Given the description of an element on the screen output the (x, y) to click on. 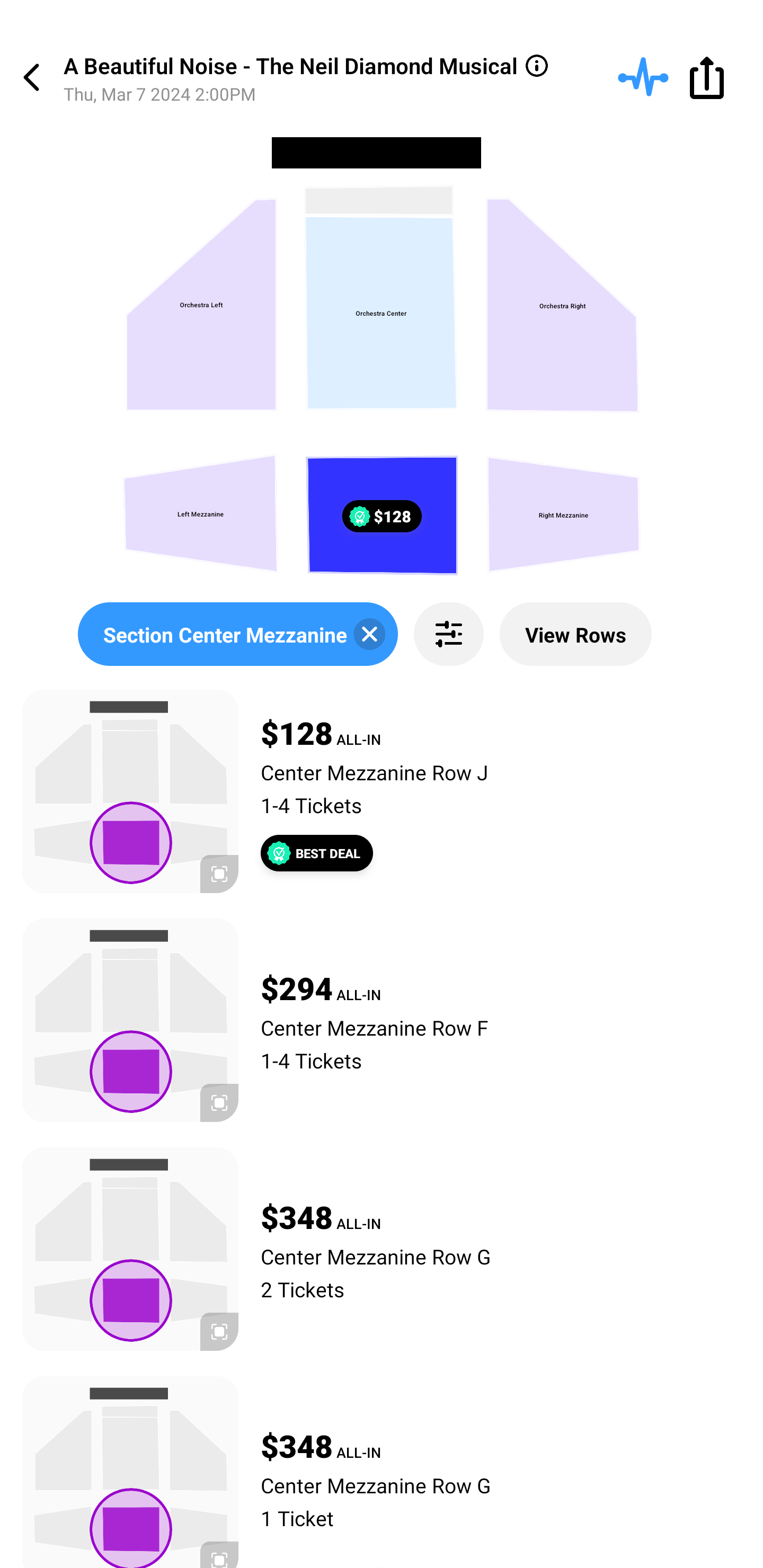
Section Center Mezzanine (237, 634)
View Rows (575, 634)
BEST DEAL (316, 852)
